Given the description of an element on the screen output the (x, y) to click on. 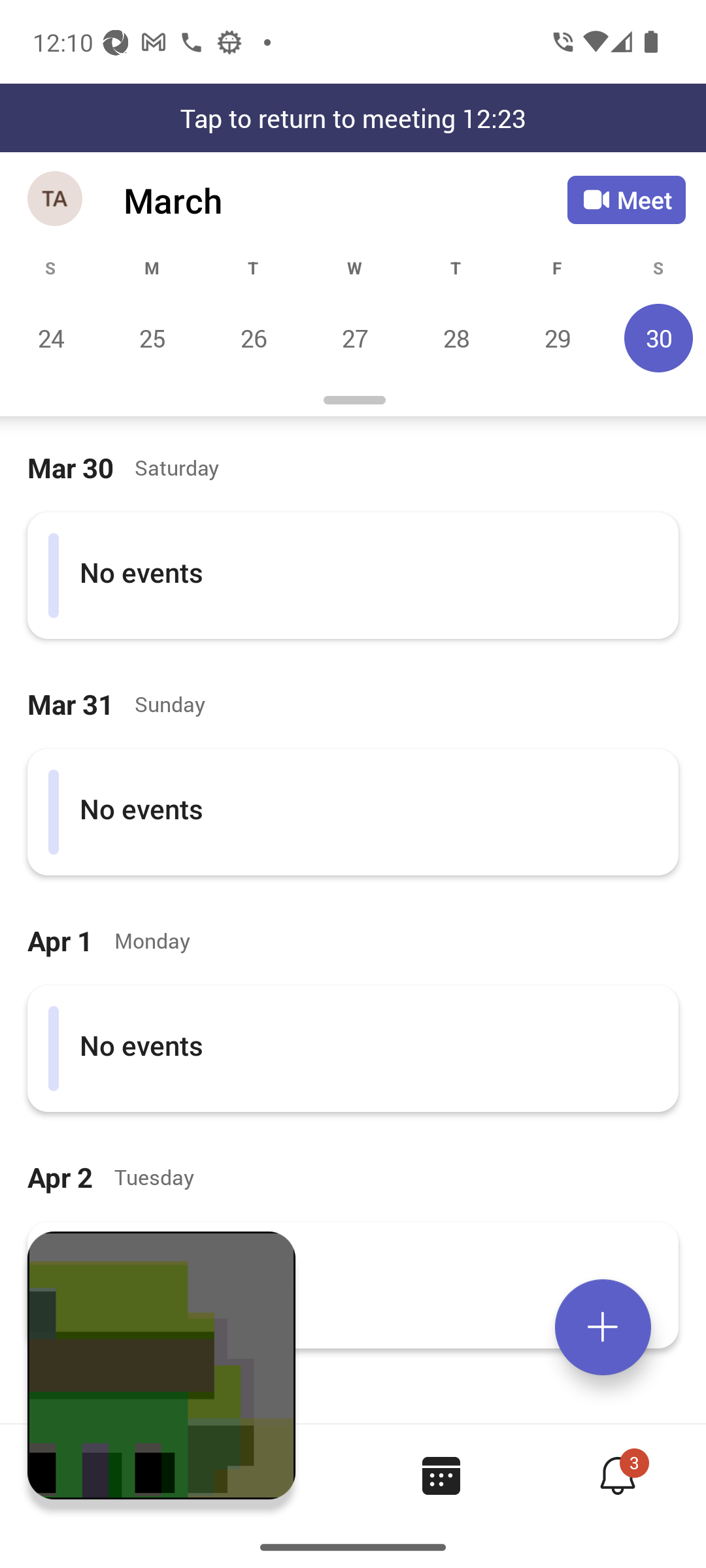
Tap to return to meeting 12:23 (353, 117)
Navigation (56, 199)
Meet Meet now or join with an ID (626, 199)
March March Calendar Agenda View (345, 199)
Sunday, March 24 24 (50, 337)
Monday, March 25 25 (151, 337)
Tuesday, March 26 26 (253, 337)
Wednesday, March 27 27 (354, 337)
Thursday, March 28 28 (455, 337)
Friday, March 29 29 (556, 337)
Saturday, March 30, Selected 30 (656, 337)
Expand meetings menu (602, 1327)
Calendar tab, 3 of 4 (441, 1475)
Activity tab,4 of 4, not selected, 3 new 3 (617, 1475)
